Given the description of an element on the screen output the (x, y) to click on. 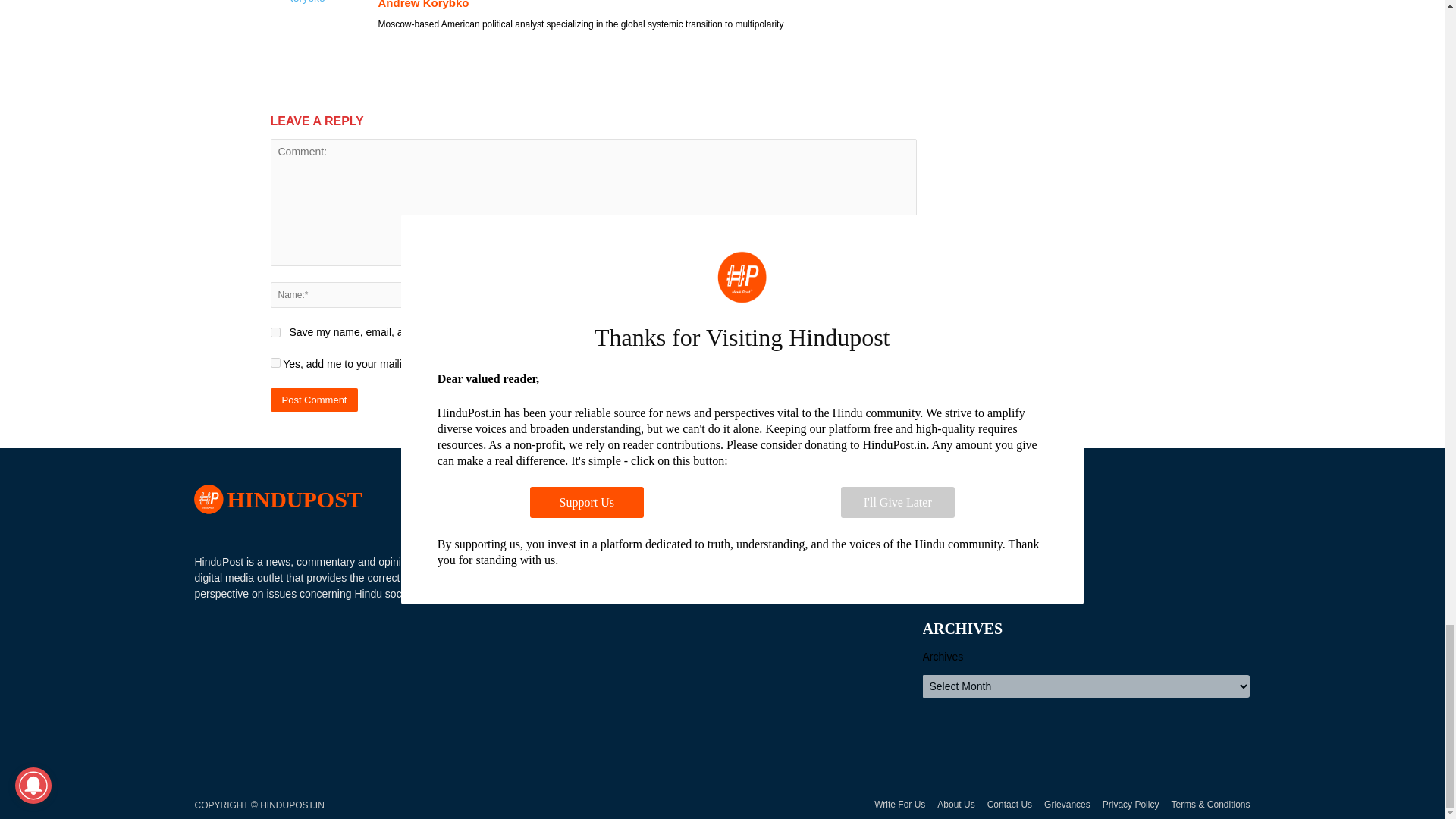
Post Comment (313, 399)
1 (274, 362)
yes (274, 332)
